Given the description of an element on the screen output the (x, y) to click on. 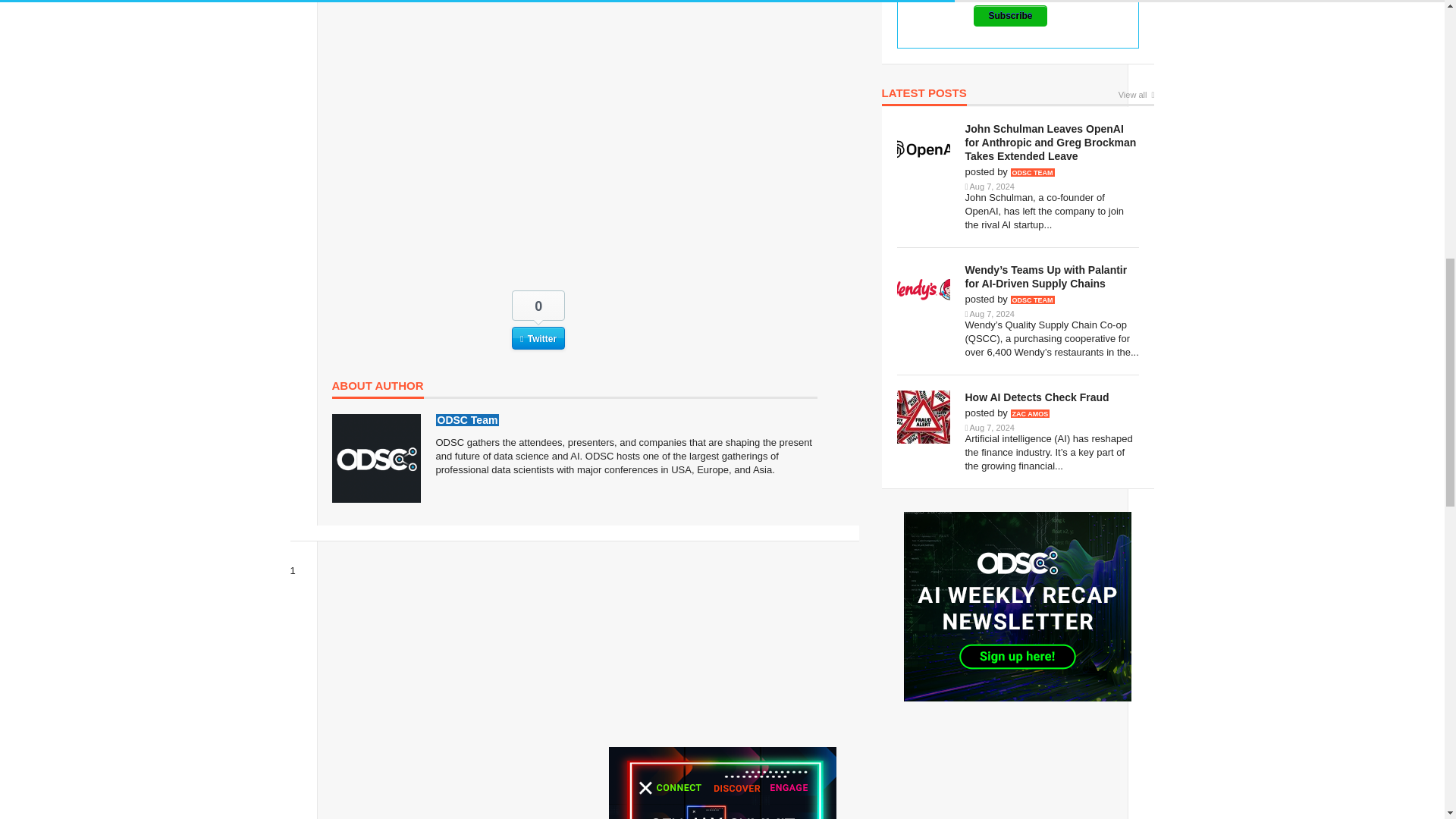
Subscribe (1010, 15)
